Given the description of an element on the screen output the (x, y) to click on. 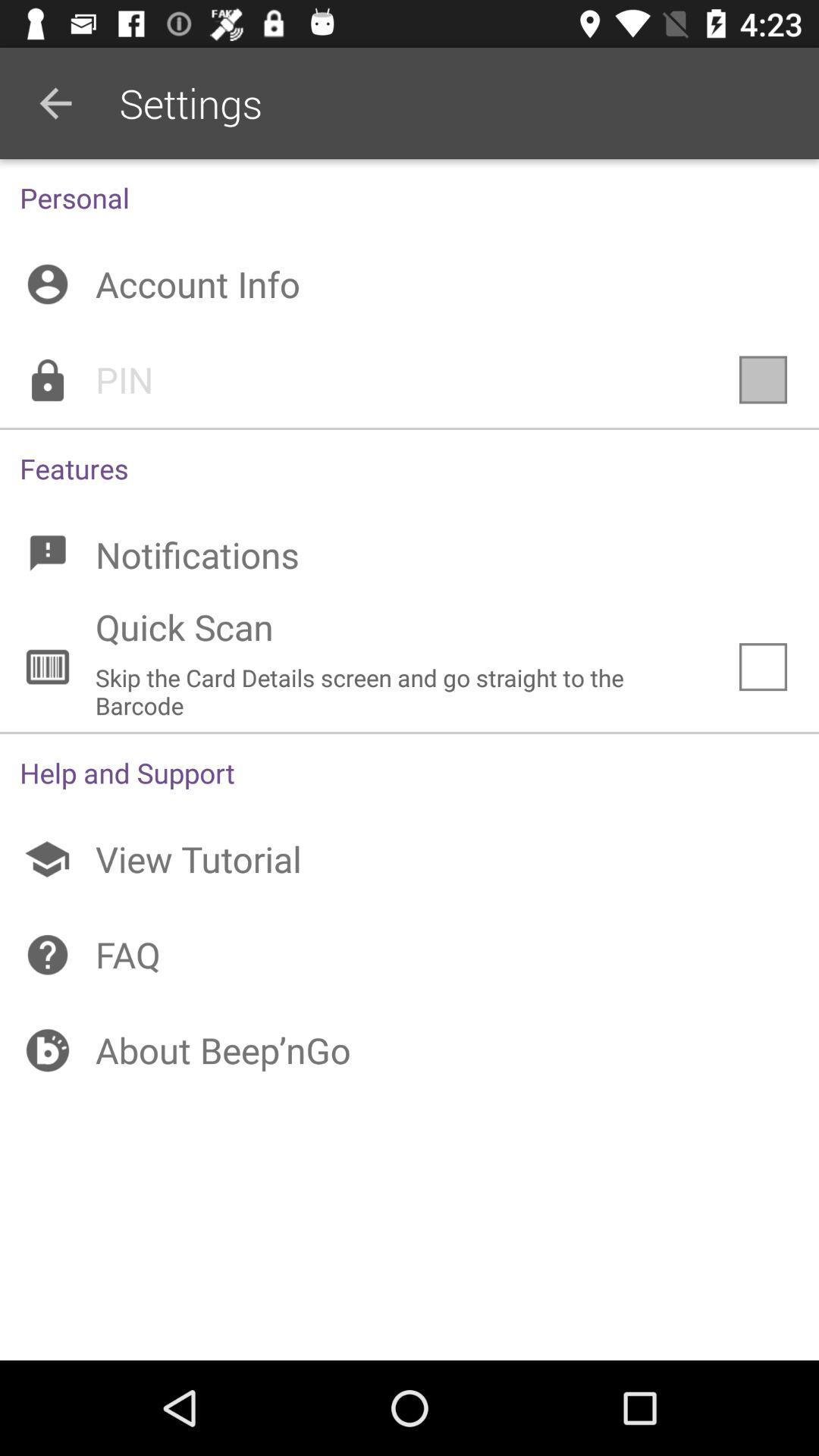
jump to faq icon (409, 954)
